Given the description of an element on the screen output the (x, y) to click on. 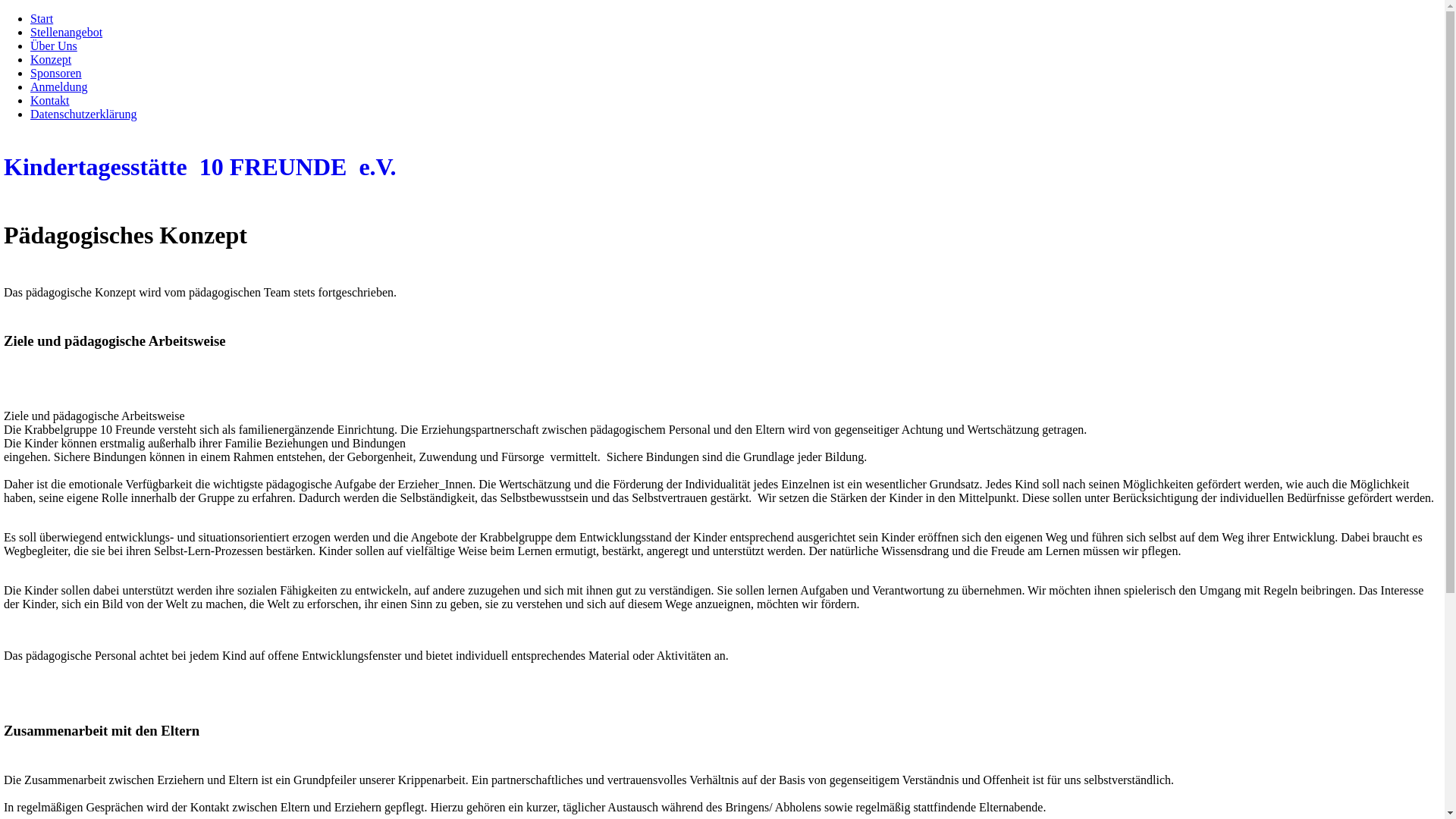
Start Element type: text (41, 18)
Konzept Element type: text (50, 59)
Stellenangebot Element type: text (66, 31)
Kontakt Element type: text (49, 100)
Anmeldung Element type: text (58, 86)
Sponsoren Element type: text (55, 72)
